Given the description of an element on the screen output the (x, y) to click on. 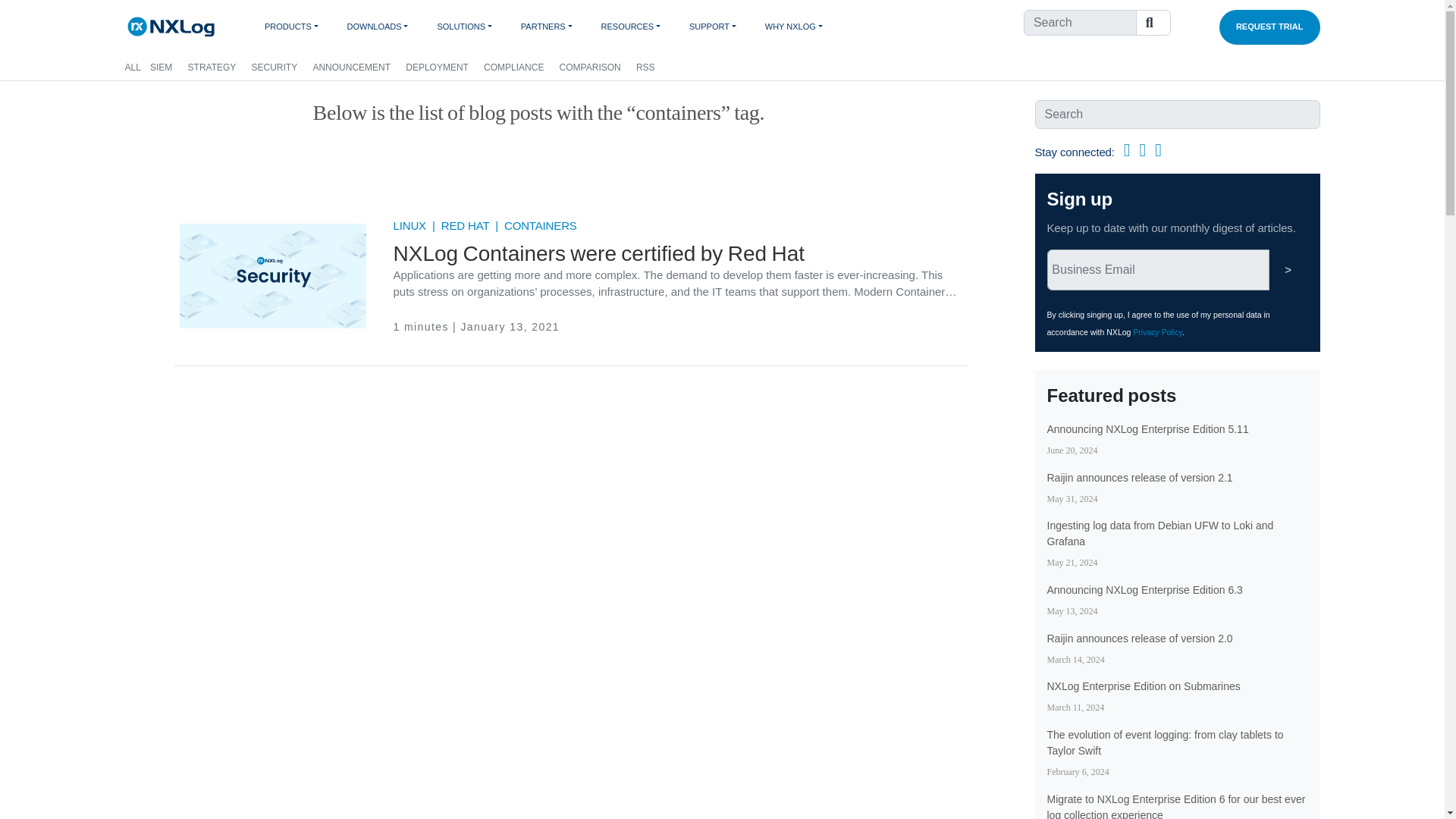
RESOURCES (638, 27)
SOLUTIONS (471, 27)
PRODUCTS (299, 27)
PARTNERS (555, 27)
DOWNLOADS (385, 27)
